Given the description of an element on the screen output the (x, y) to click on. 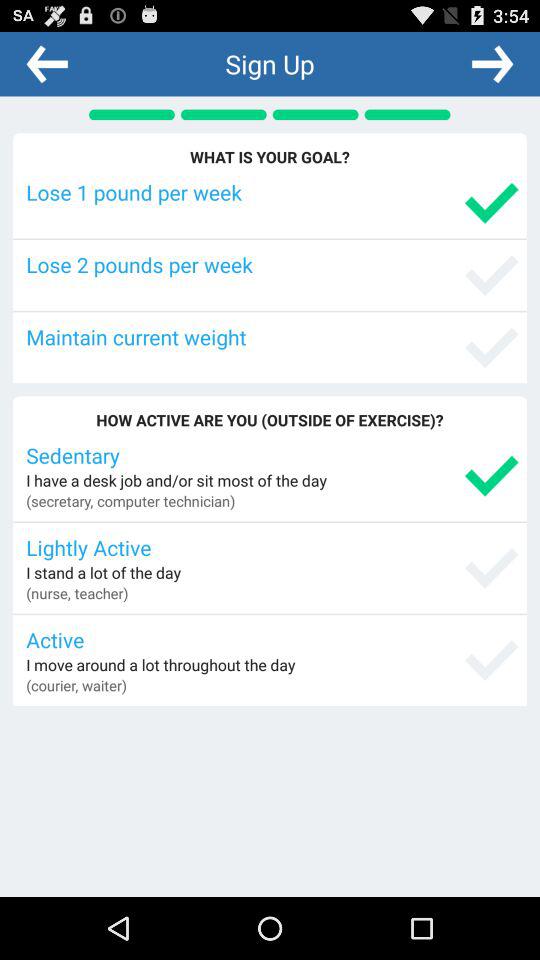
turn on the lose 2 pounds (272, 264)
